Given the description of an element on the screen output the (x, y) to click on. 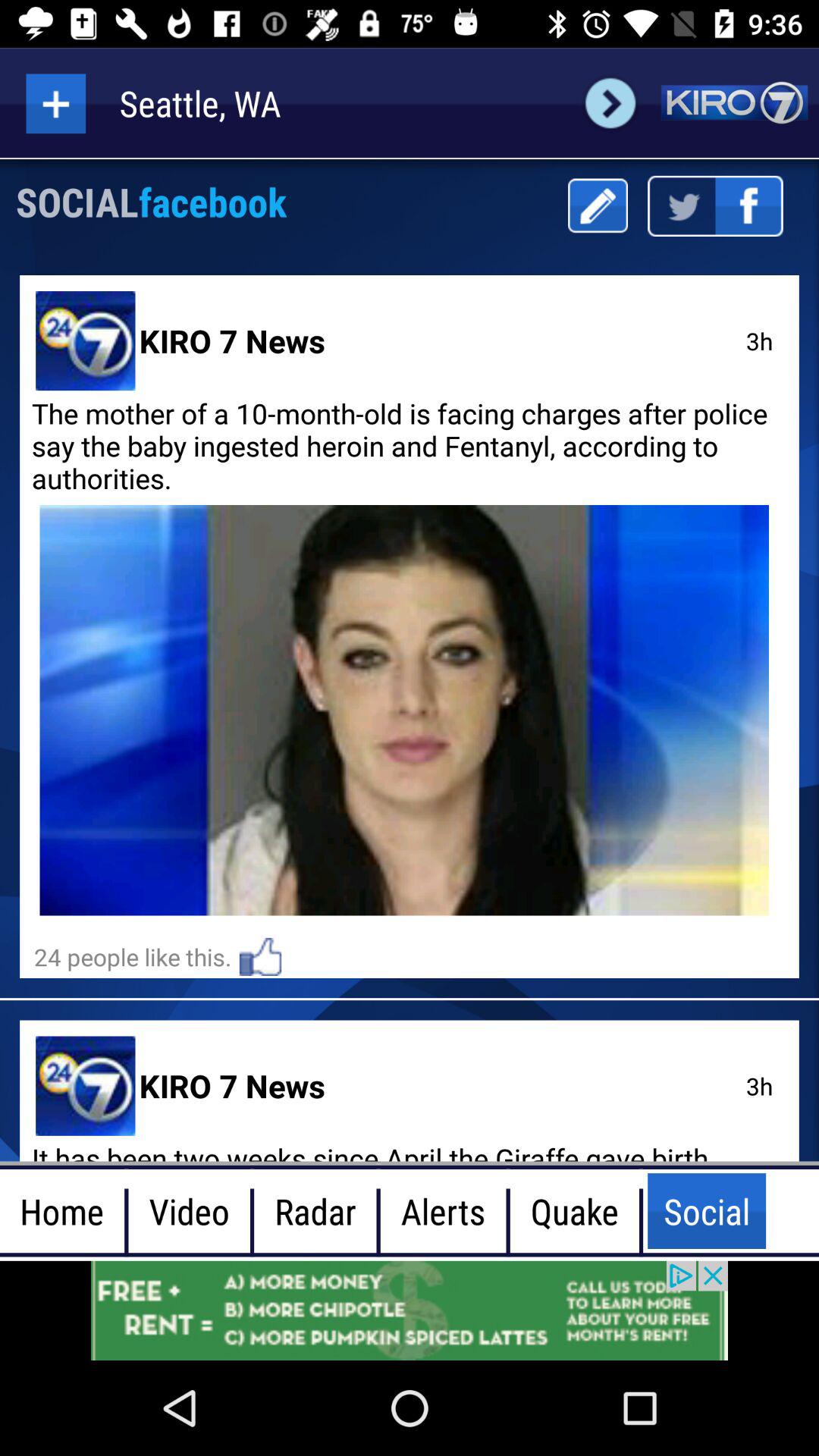
click logo (734, 103)
